Given the description of an element on the screen output the (x, y) to click on. 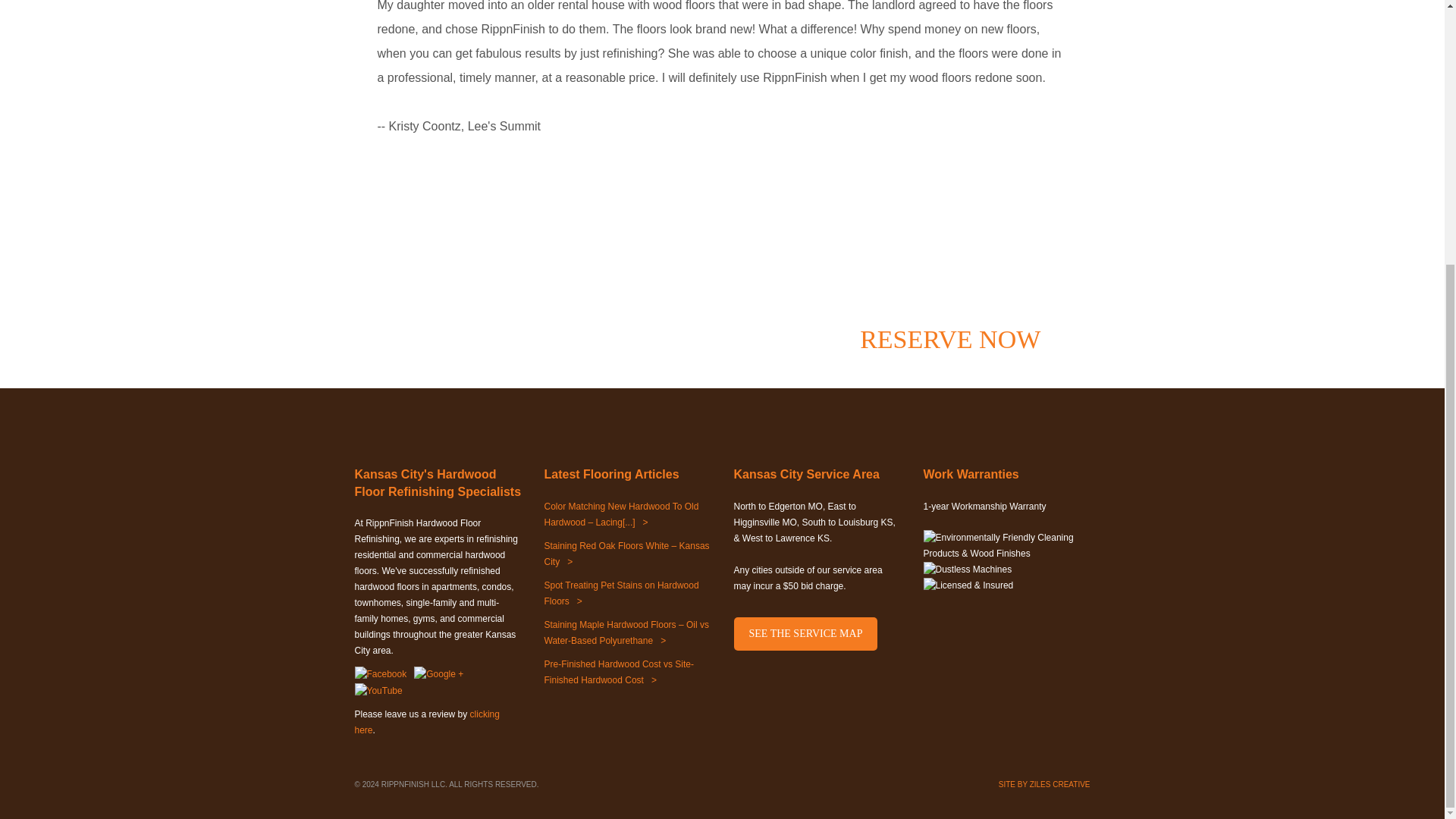
COMMERCIAL FLOORS (705, 12)
